Given the description of an element on the screen output the (x, y) to click on. 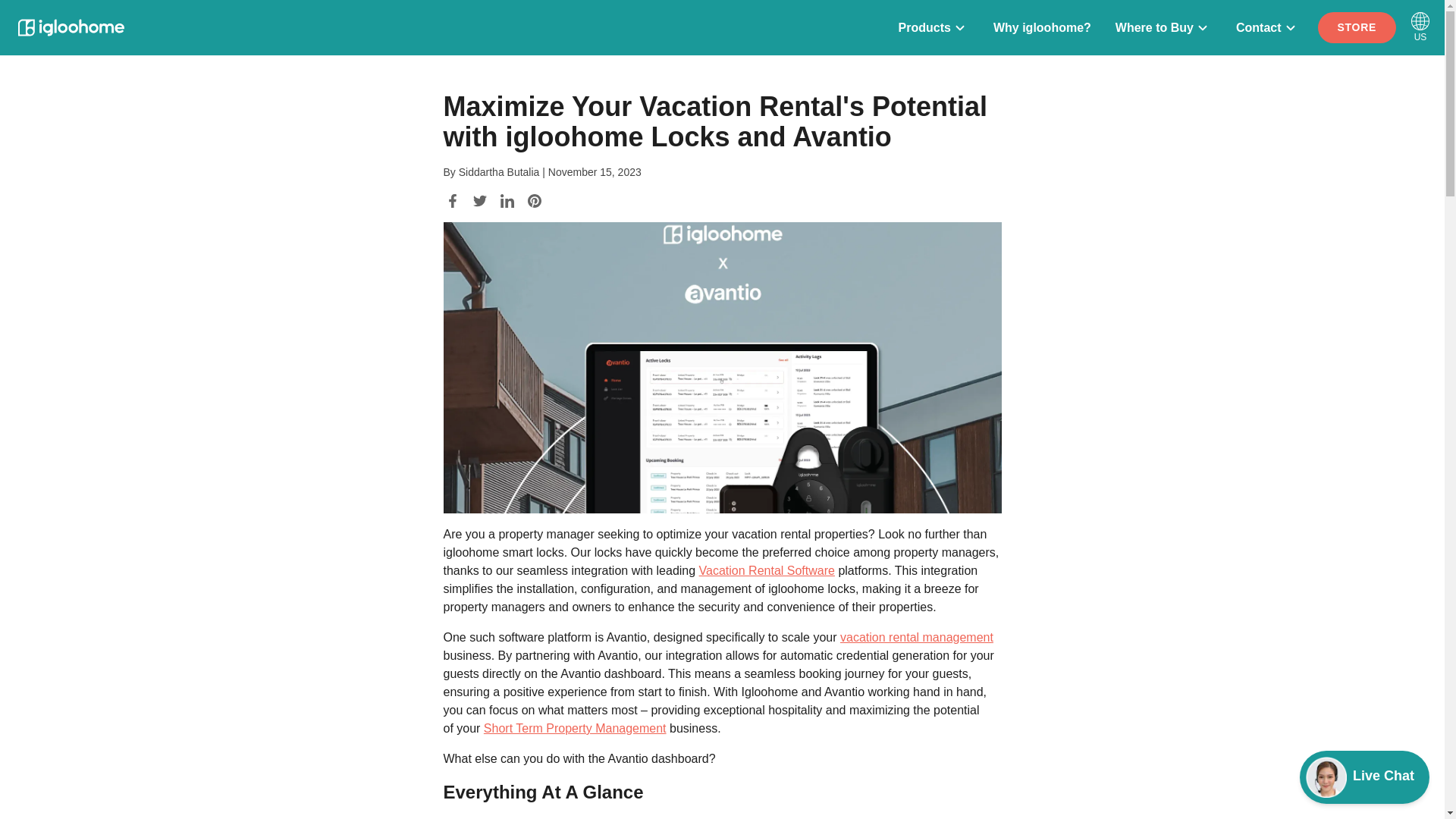
igloohome (70, 27)
Why igloohome? (1042, 27)
STORE (1356, 27)
Contact (1267, 27)
Short Term Property Management (574, 727)
Store (1098, 27)
vacation rental management (1356, 27)
igloohome help (916, 636)
Vacation Rental Software (1326, 776)
